Given the description of an element on the screen output the (x, y) to click on. 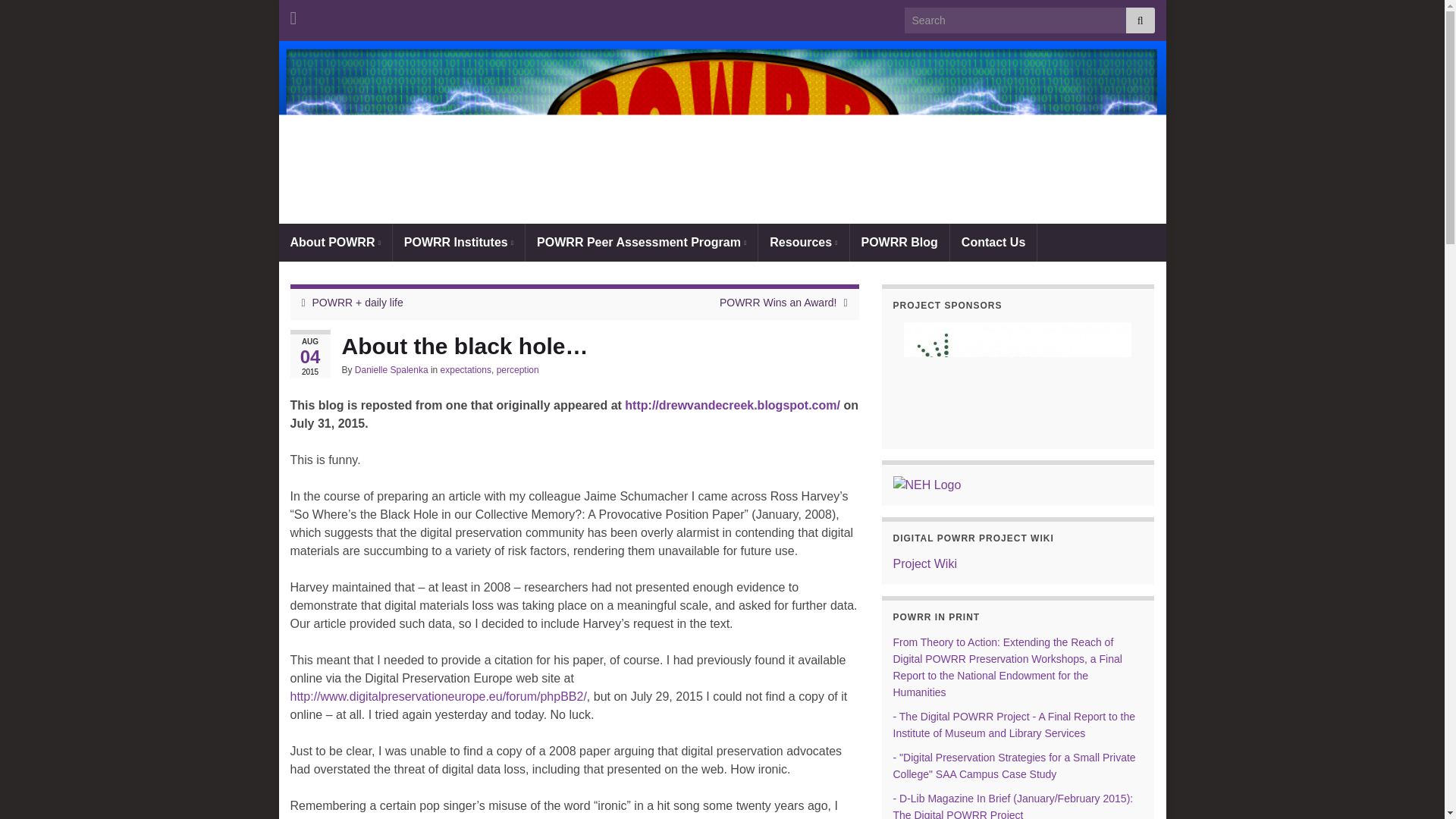
POWRR Blog (898, 242)
perception (517, 369)
Project Sponsors (1017, 373)
expectations (466, 369)
Resources (803, 242)
Contact Us (993, 242)
POWRR Peer Assessment Program (641, 242)
POWRR Wins an Award! (778, 302)
Danielle Spalenka (391, 369)
